Given the description of an element on the screen output the (x, y) to click on. 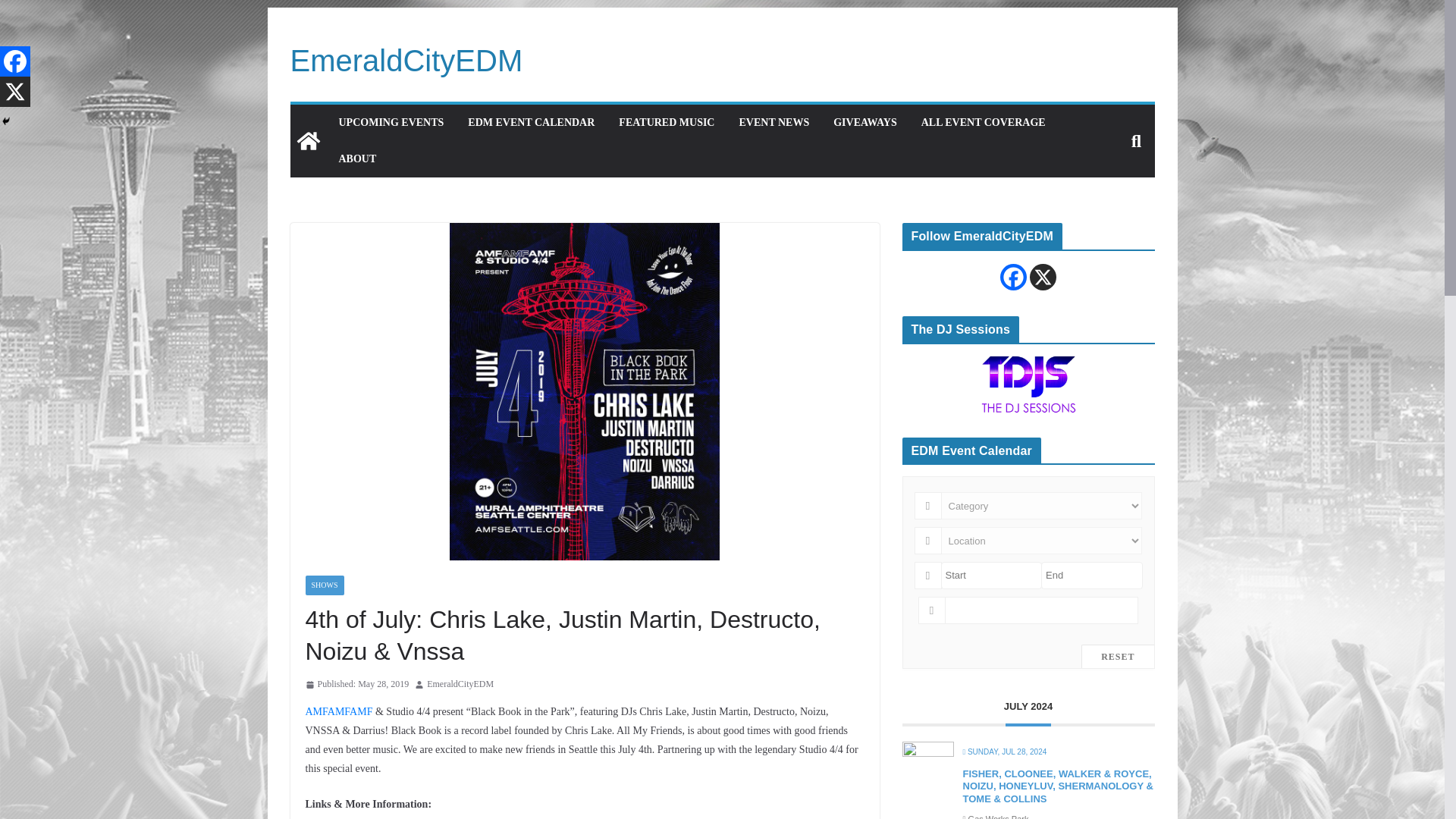
ALL EVENT COVERAGE (983, 122)
Facebook (15, 60)
X (15, 91)
EmeraldCityEDM (307, 140)
Facebook (1013, 276)
EmeraldCityEDM (405, 60)
FEATURED MUSIC (666, 122)
GIVEAWAYS (864, 122)
AMFAMFAMF (338, 711)
EmeraldCityEDM (405, 60)
EDM EVENT CALENDAR (530, 122)
Hide (5, 121)
SHOWS (323, 585)
EmeraldCityEDM (459, 684)
